Given the description of an element on the screen output the (x, y) to click on. 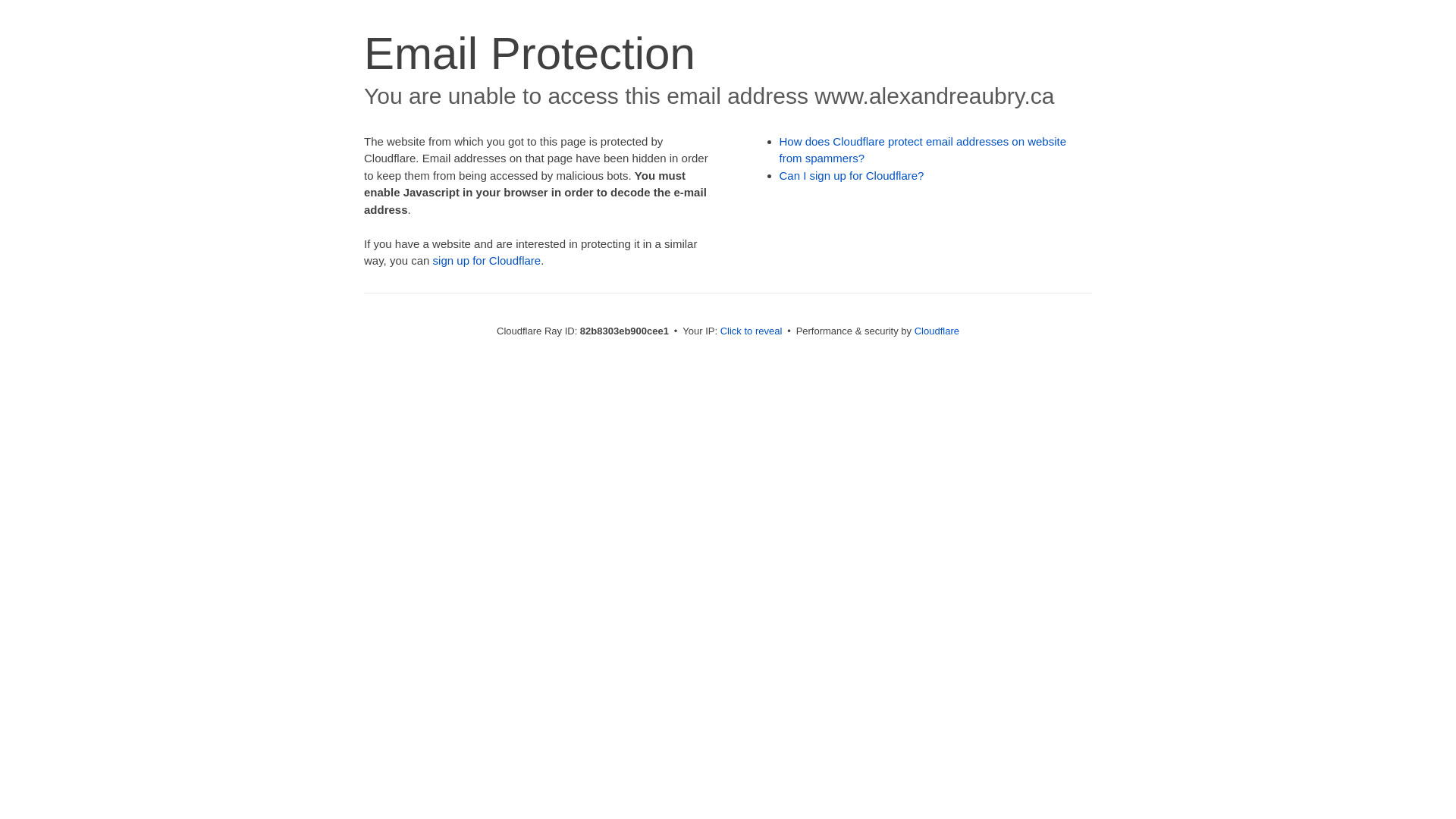
sign up for Cloudflare Element type: text (487, 260)
Click to reveal Element type: text (751, 330)
Cloudflare Element type: text (936, 330)
Can I sign up for Cloudflare? Element type: text (851, 175)
